Given the description of an element on the screen output the (x, y) to click on. 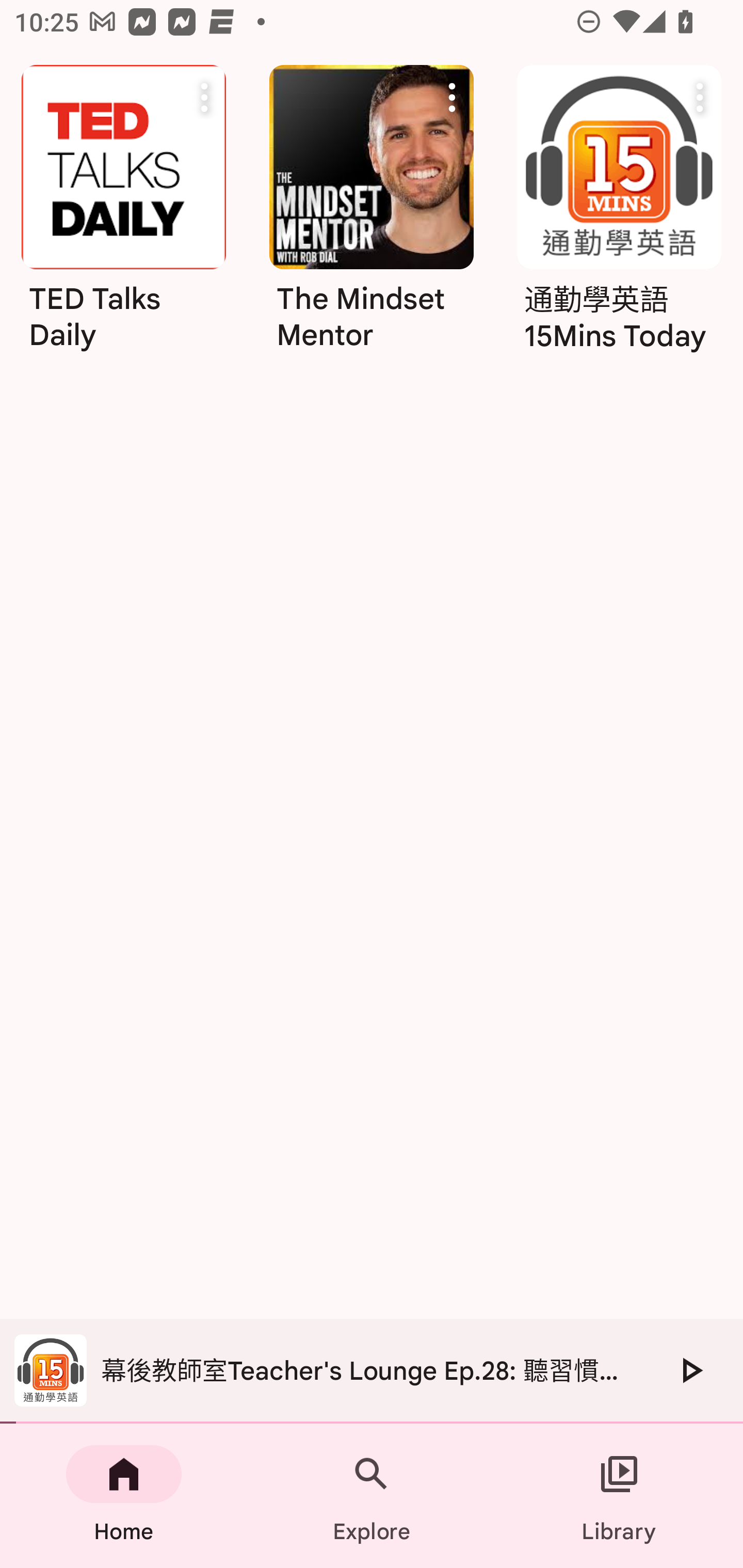
TED Talks Daily More actions TED Talks Daily (123, 214)
The Mindset Mentor More actions The Mindset Mentor (371, 214)
通勤學英語 15Mins Today More actions 通勤學英語 15Mins Today (619, 214)
More actions (203, 97)
More actions (452, 97)
More actions (699, 97)
Play (690, 1370)
Explore (371, 1495)
Library (619, 1495)
